Given the description of an element on the screen output the (x, y) to click on. 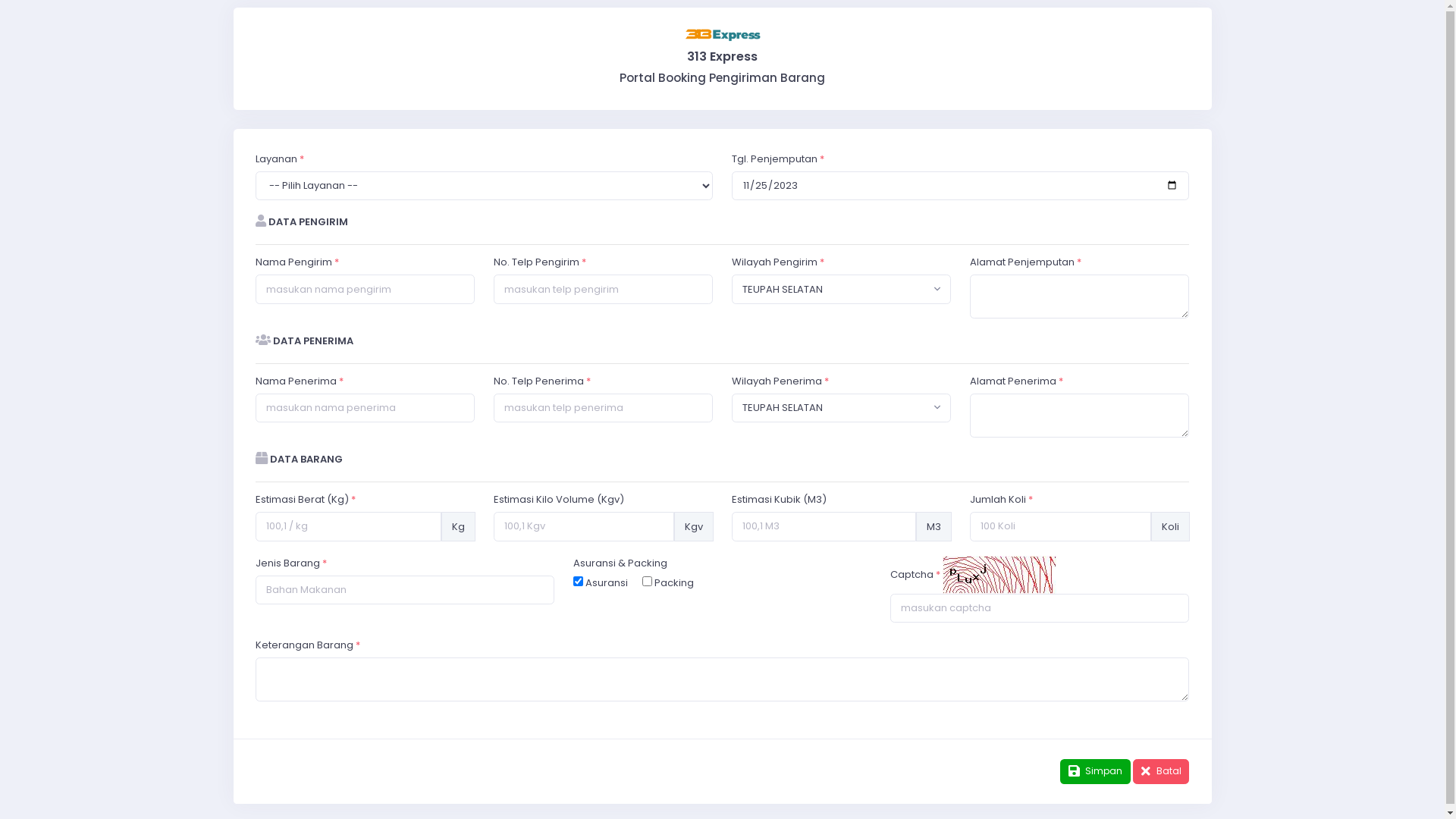
Batal Element type: text (1160, 771)
Simpan Element type: text (1095, 771)
